Given the description of an element on the screen output the (x, y) to click on. 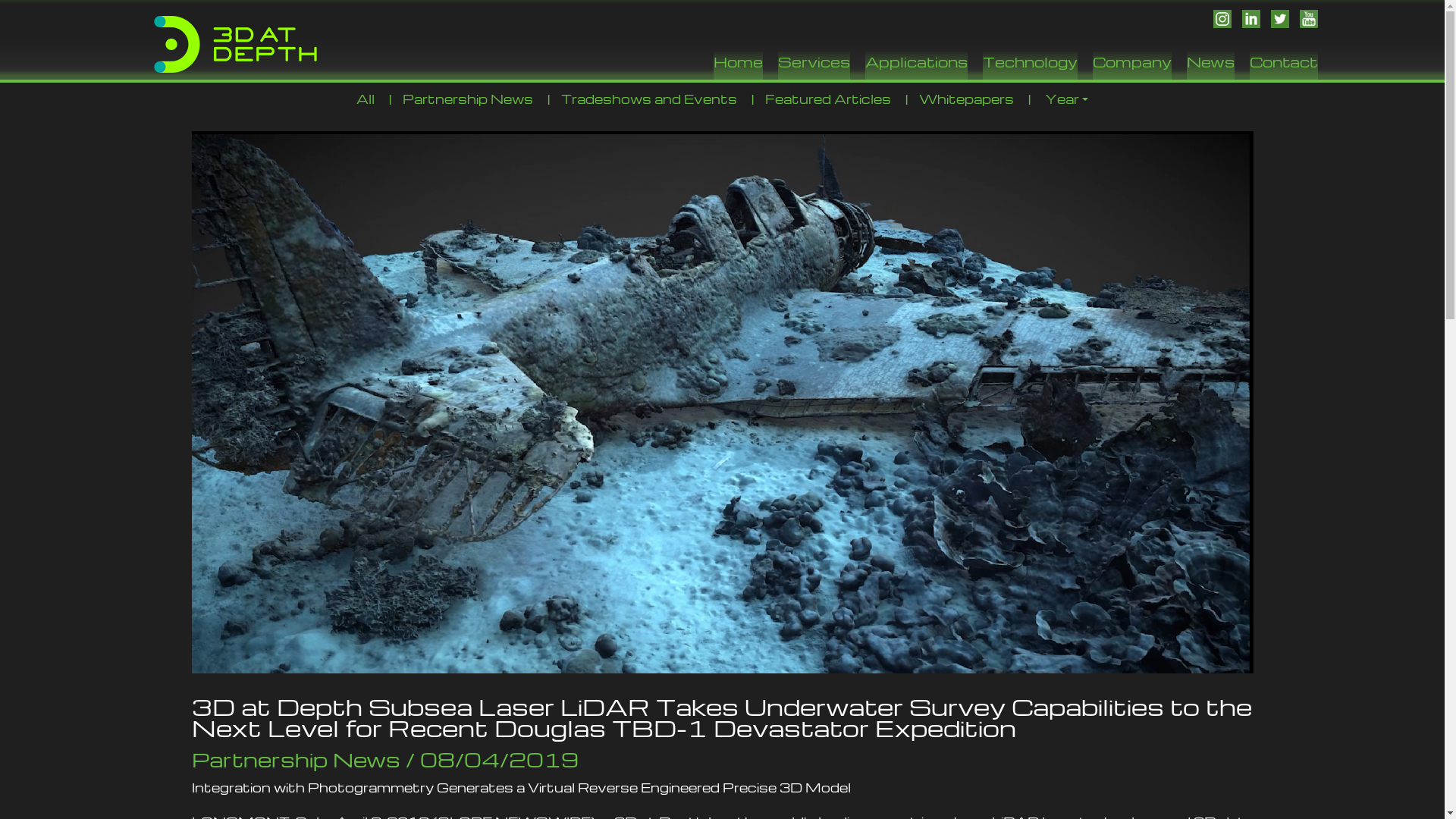
Company Element type: text (1131, 65)
Year Element type: text (1066, 99)
Home Element type: text (737, 65)
Featured Articles Element type: text (827, 98)
Whitepapers Element type: text (966, 98)
Services Element type: text (814, 65)
Contact Element type: text (1283, 65)
Applications Element type: text (915, 65)
All Element type: text (365, 98)
News Element type: text (1209, 65)
Tradeshows and Events Element type: text (648, 98)
Technology Element type: text (1029, 65)
Partnership News Element type: text (467, 98)
